Given the description of an element on the screen output the (x, y) to click on. 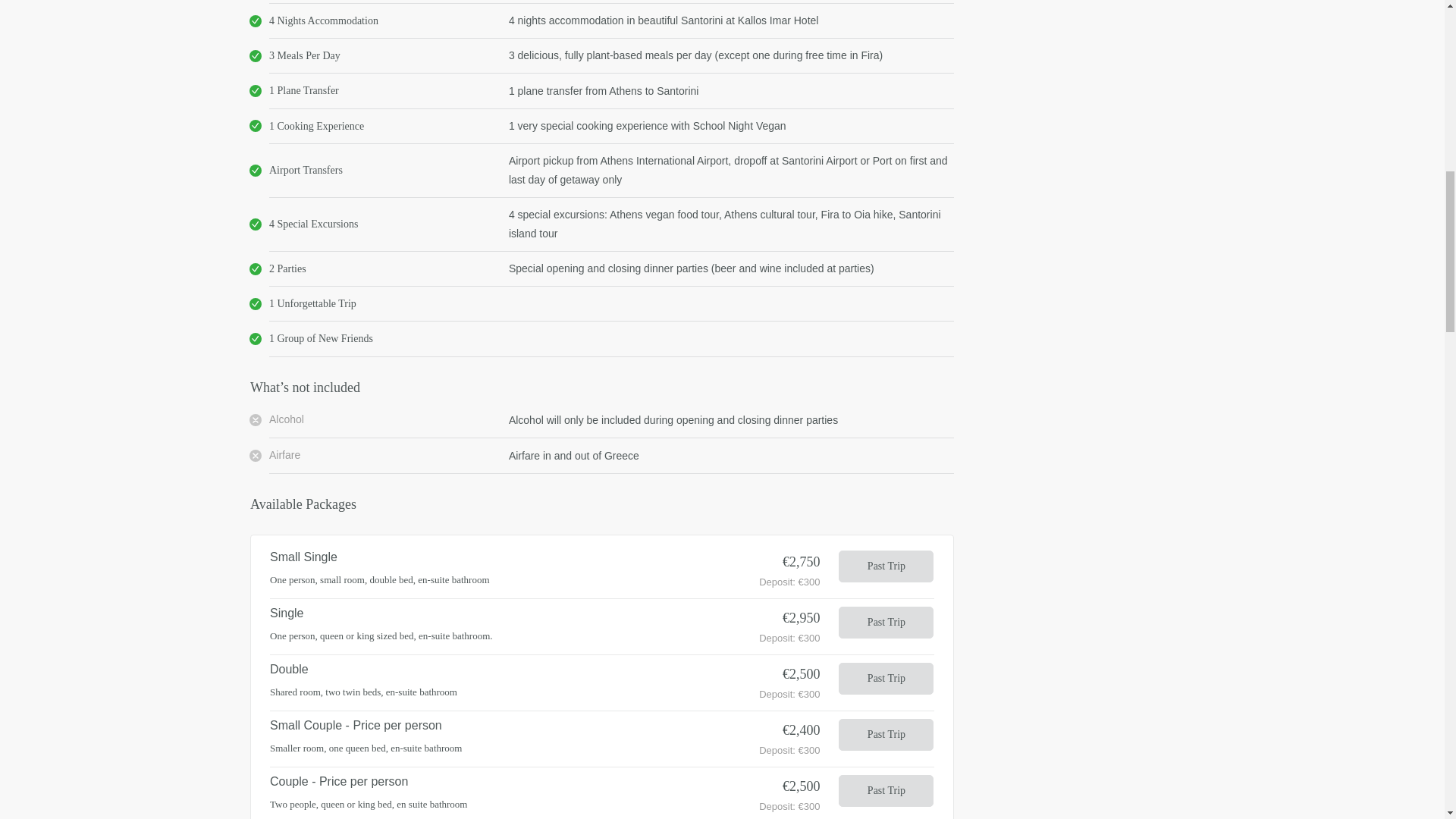
Past Trip (885, 735)
Past Trip (885, 622)
Past Trip (885, 790)
Past Trip (885, 566)
Past Trip (885, 678)
